Given the description of an element on the screen output the (x, y) to click on. 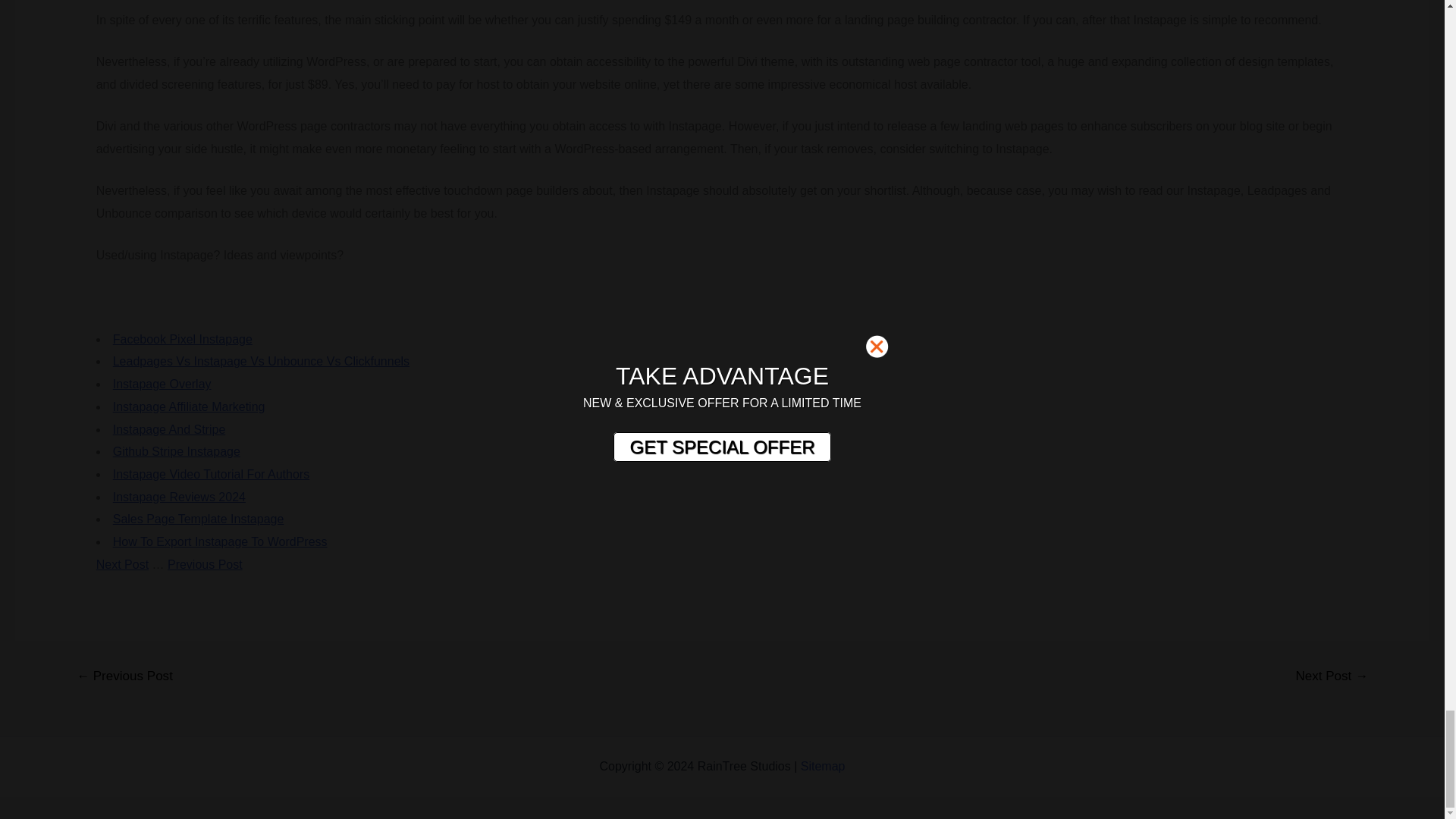
How To Export Instapage To WordPress (220, 541)
Instapage And Stripe (169, 429)
Instapage And Stripe (169, 429)
Previous Post (205, 563)
Github Stripe Instapage (176, 451)
Instapage Video Tutorial For Authors (210, 473)
Instapage Reviews 2024 (179, 496)
Sales Page Template Instapage (198, 518)
Instapage Overlay (162, 383)
Sitemap (822, 766)
